Given the description of an element on the screen output the (x, y) to click on. 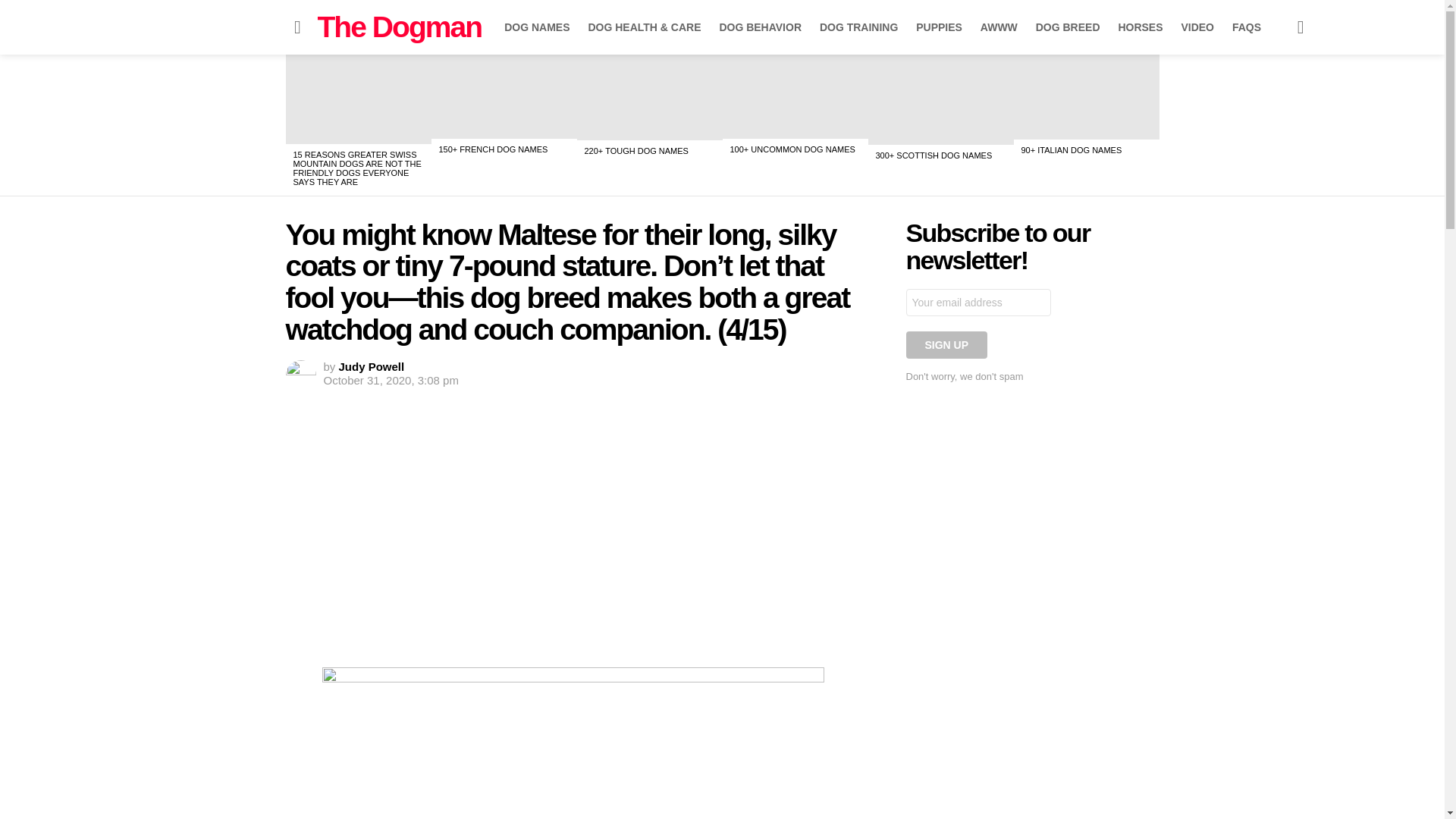
DOG BREED (1067, 26)
VIDEO (1197, 26)
The Dogman (399, 26)
PUPPIES (938, 26)
Sign up (946, 344)
DOG NAMES (536, 26)
DOG BEHAVIOR (760, 26)
Menu (296, 27)
DOG TRAINING (858, 26)
HORSES (1139, 26)
AWWW (998, 26)
Judy Powell (371, 366)
FAQS (1246, 26)
